Given the description of an element on the screen output the (x, y) to click on. 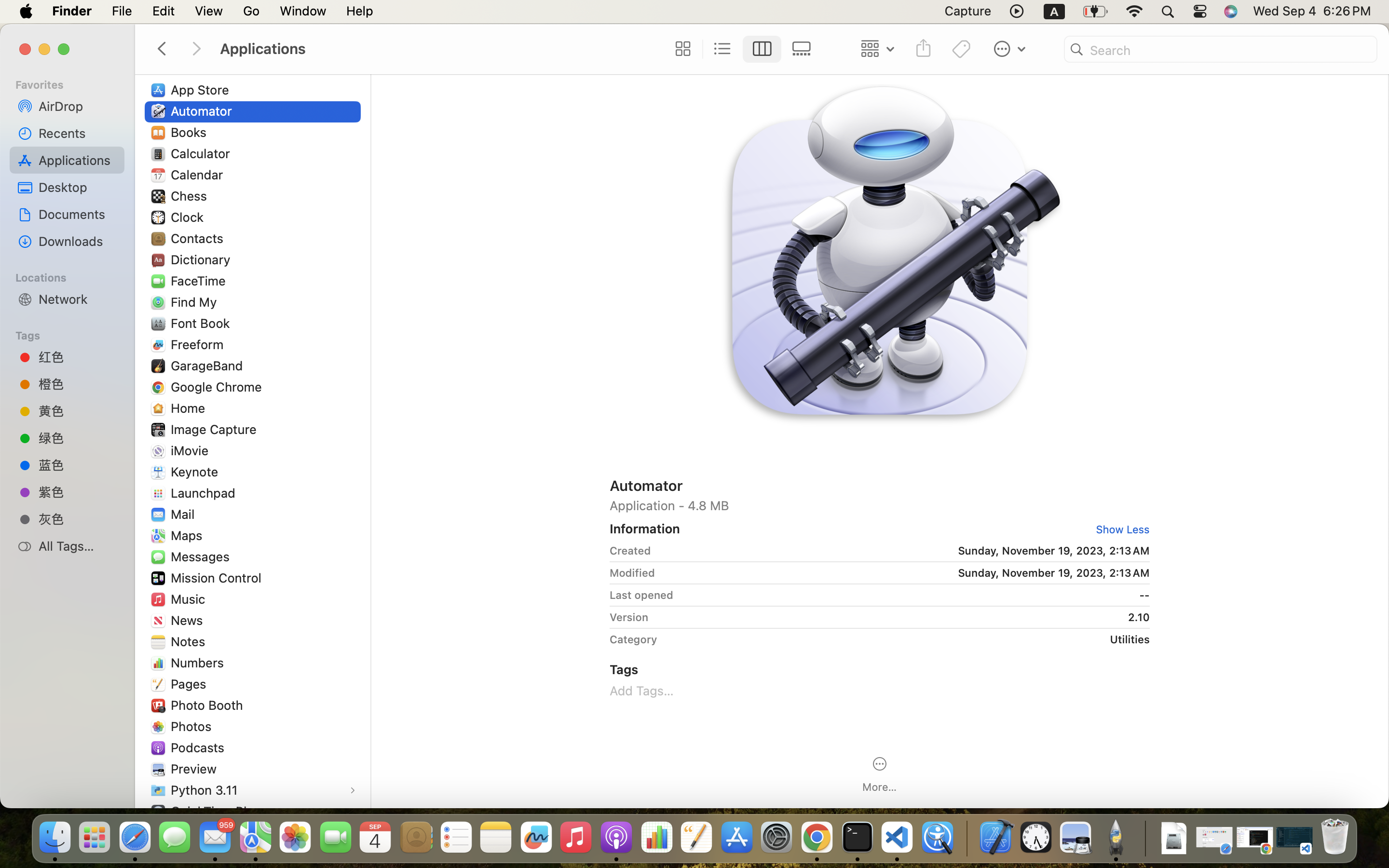
App Store Element type: AXTextField (201, 89)
Recents Element type: AXStaticText (77, 132)
Dictionary Element type: AXTextField (202, 259)
Version Element type: AXStaticText (628, 616)
Desktop Element type: AXStaticText (77, 186)
